Given the description of an element on the screen output the (x, y) to click on. 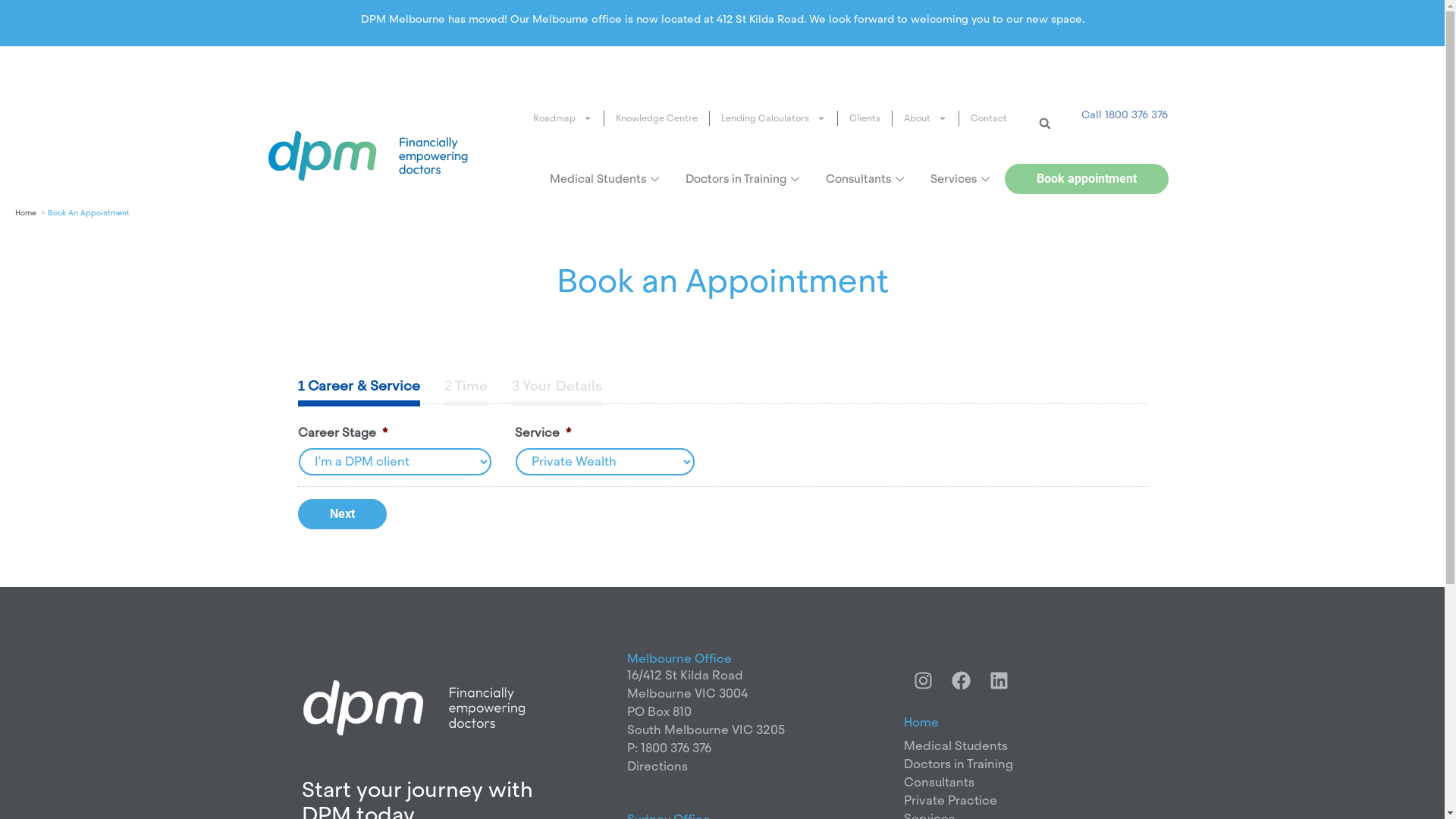
Lending Calculators Element type: text (773, 117)
Roadmap Element type: text (562, 117)
Melbourne VIC 3004 Element type: text (687, 693)
Home Element type: text (25, 212)
16/412 St Kilda Road Element type: text (685, 675)
Doctors in Training Element type: text (744, 178)
Instagram Element type: text (922, 680)
Facebook Element type: text (960, 680)
Medical Students Element type: text (955, 746)
Consultants Element type: text (866, 178)
Services Element type: text (961, 178)
Clients Element type: text (864, 117)
Private Practice Element type: text (950, 800)
About Element type: text (924, 117)
Call 1800 376 376 Element type: text (1124, 114)
Doctors in Training Element type: text (958, 764)
Knowledge Centre Element type: text (656, 117)
Medical Students Element type: text (606, 178)
Directions Element type: text (657, 766)
Book appointment Element type: text (1086, 178)
Next Element type: text (341, 513)
P: 1800 376 376 Element type: text (669, 748)
Consultants Element type: text (938, 782)
Linkedin Element type: text (998, 680)
Contact Element type: text (987, 117)
